Given the description of an element on the screen output the (x, y) to click on. 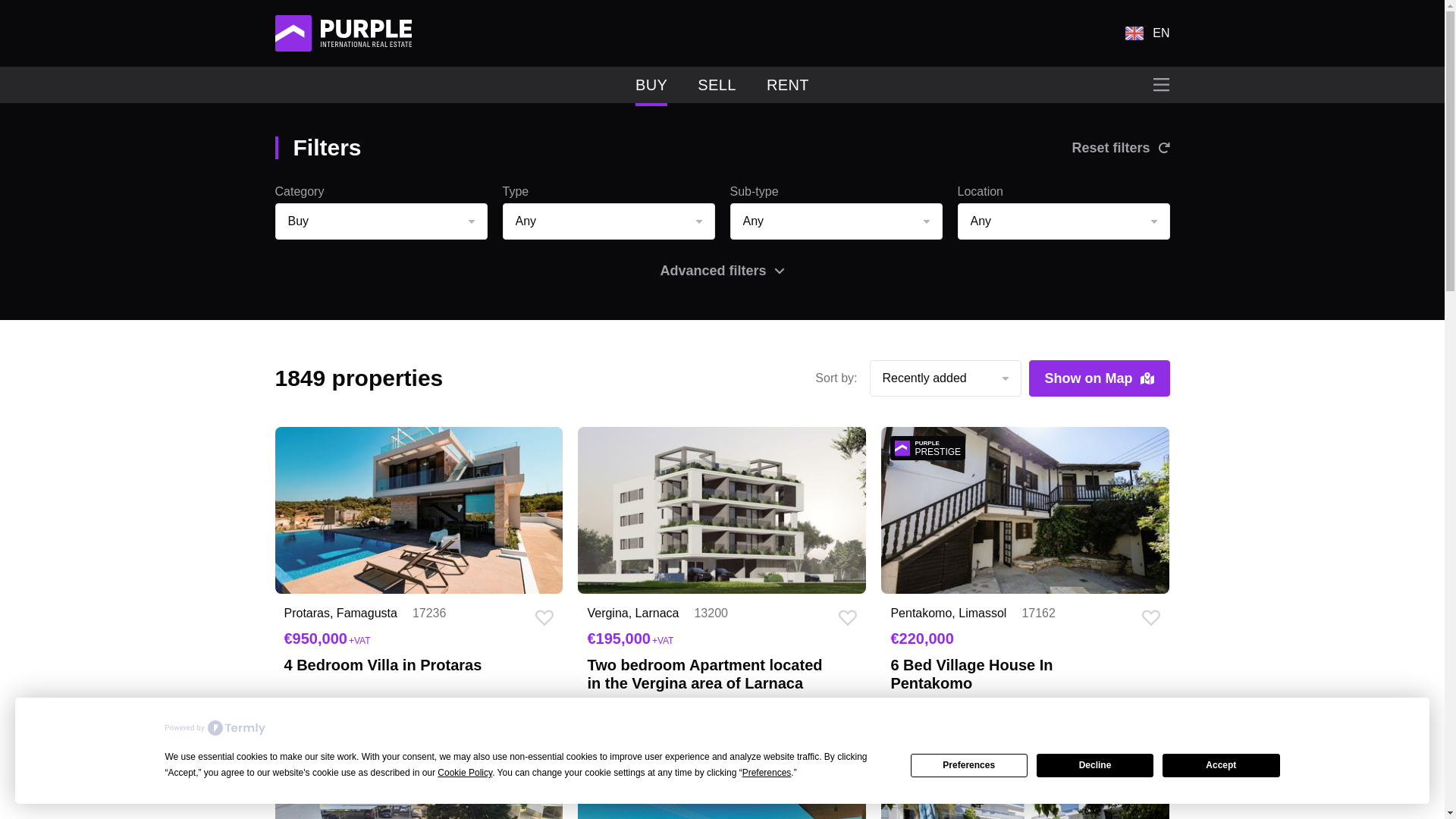
 Any (835, 221)
RENT (788, 84)
 Any (1062, 221)
Show on Map (1098, 378)
Decline (1094, 765)
 Buy (380, 221)
Accept (1220, 765)
 Any (608, 221)
 Recently added (944, 378)
Reset filters (1120, 147)
Advanced filters (721, 270)
Preferences (969, 765)
SELL (716, 84)
EN (1147, 32)
